Given the description of an element on the screen output the (x, y) to click on. 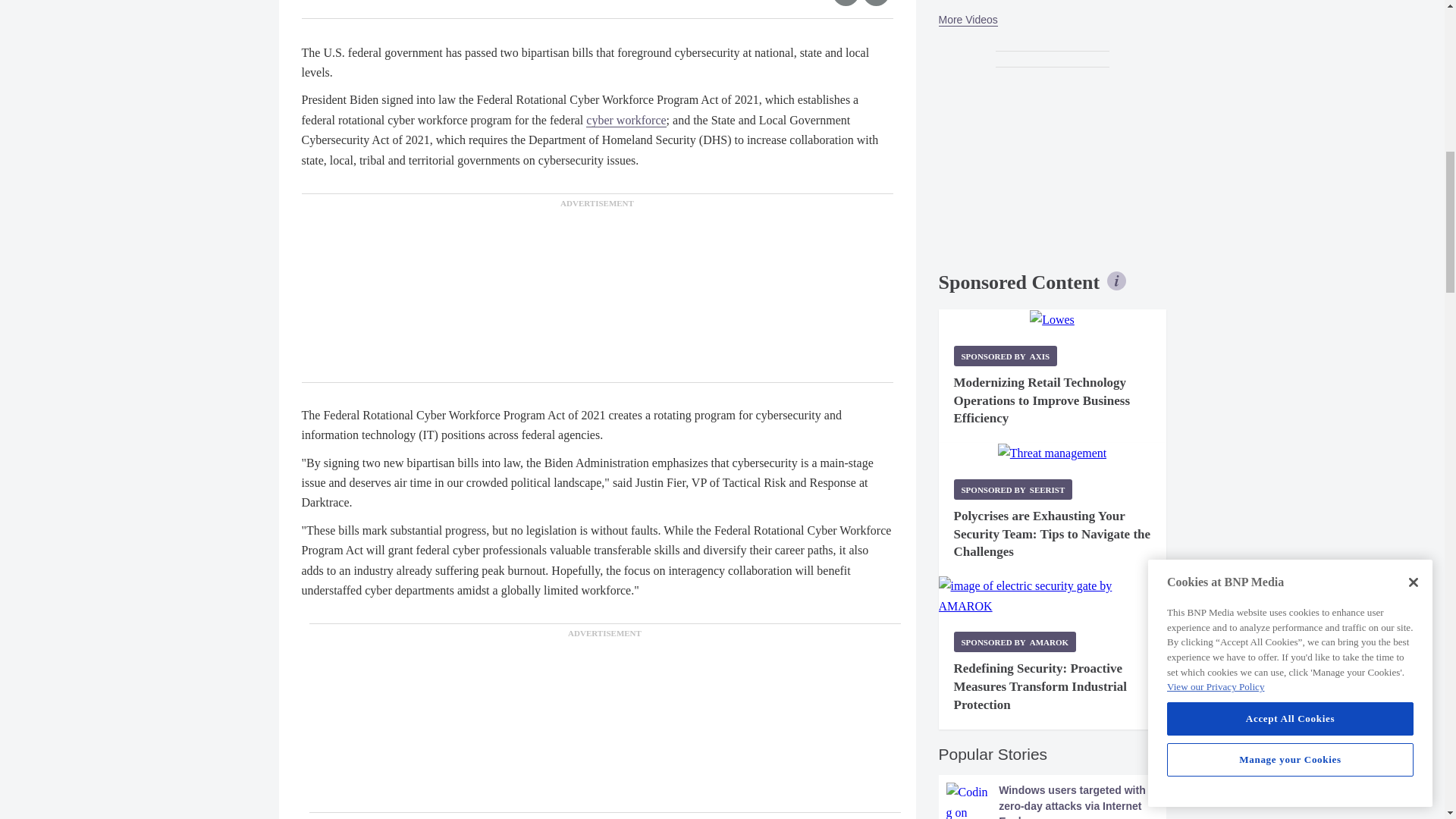
Threat management (1051, 453)
Lowes (1051, 320)
AMAROK Security Gate (1052, 596)
Sponsored by Axis (1005, 355)
Sponsored by AMAROK (1015, 641)
Sponsored by Seerist (1013, 489)
